Given the description of an element on the screen output the (x, y) to click on. 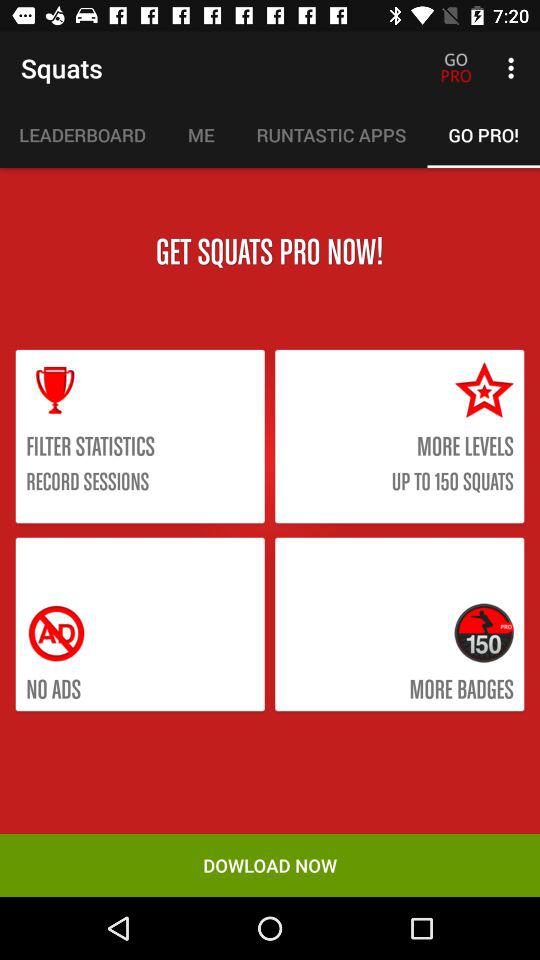
choose item next to me icon (83, 135)
